Given the description of an element on the screen output the (x, y) to click on. 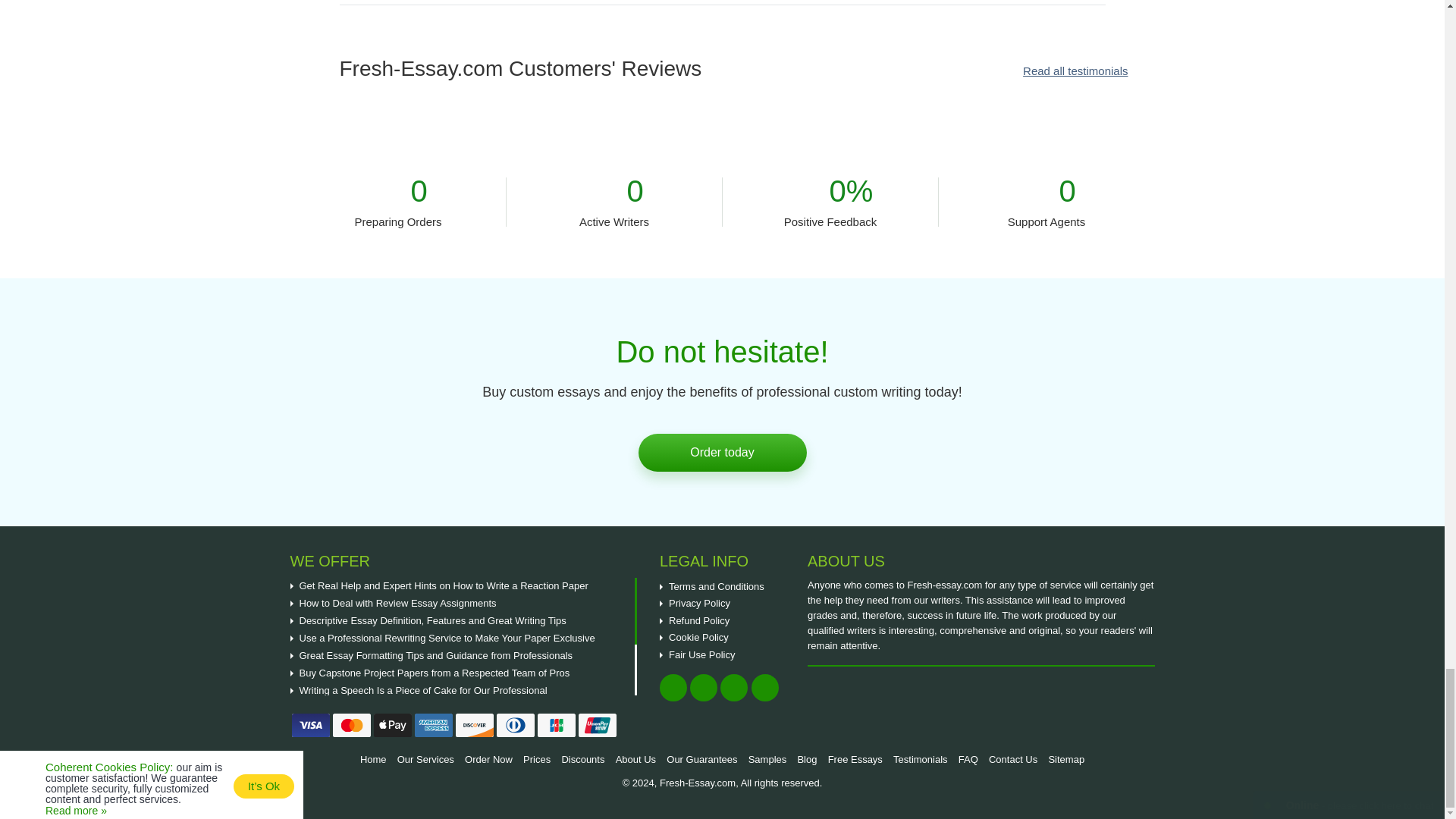
Order today (722, 452)
Credit and debit cards by Visa (310, 725)
Read all testimonials (1074, 70)
Apple pay (391, 725)
Credit and debit cards by MasterCard (350, 725)
